Given the description of an element on the screen output the (x, y) to click on. 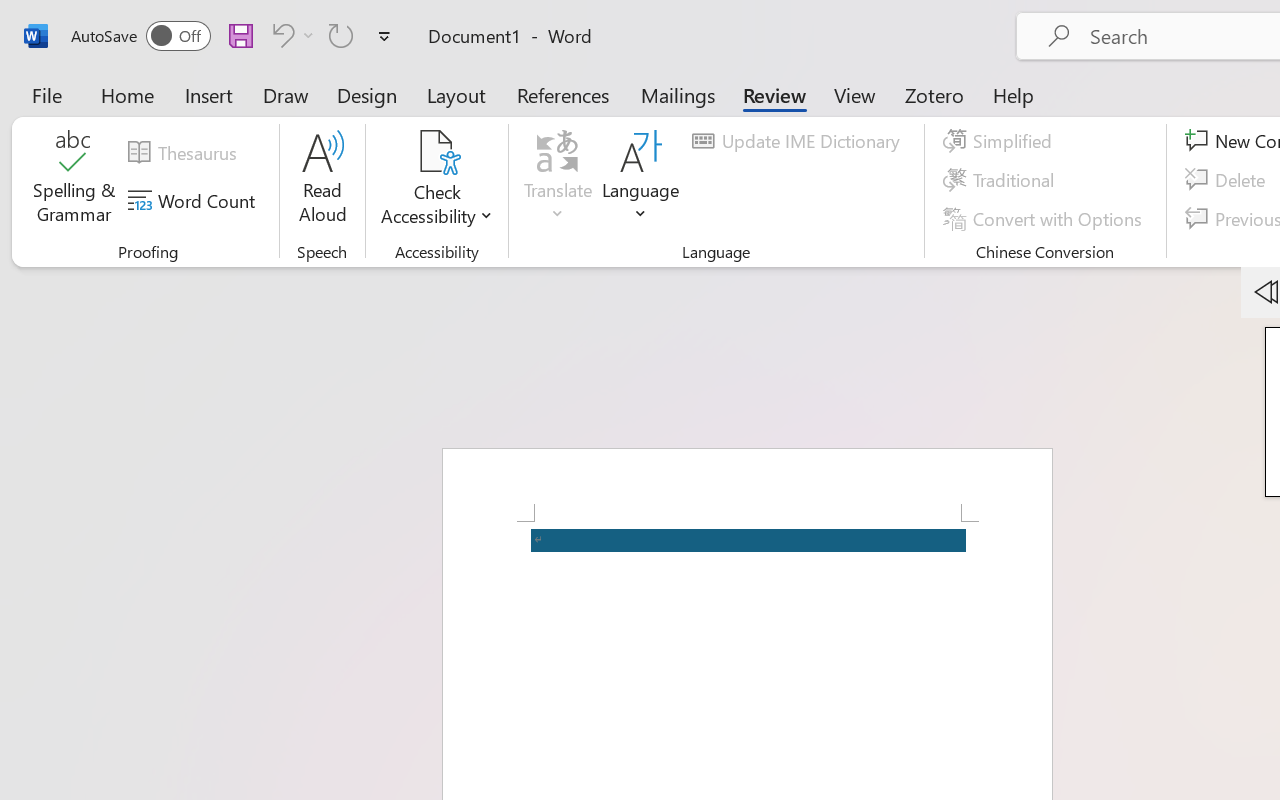
Translate (558, 179)
Word Count (194, 201)
Undo Apply Quick Style Set (290, 35)
Thesaurus... (185, 153)
Traditional (1001, 179)
